Given the description of an element on the screen output the (x, y) to click on. 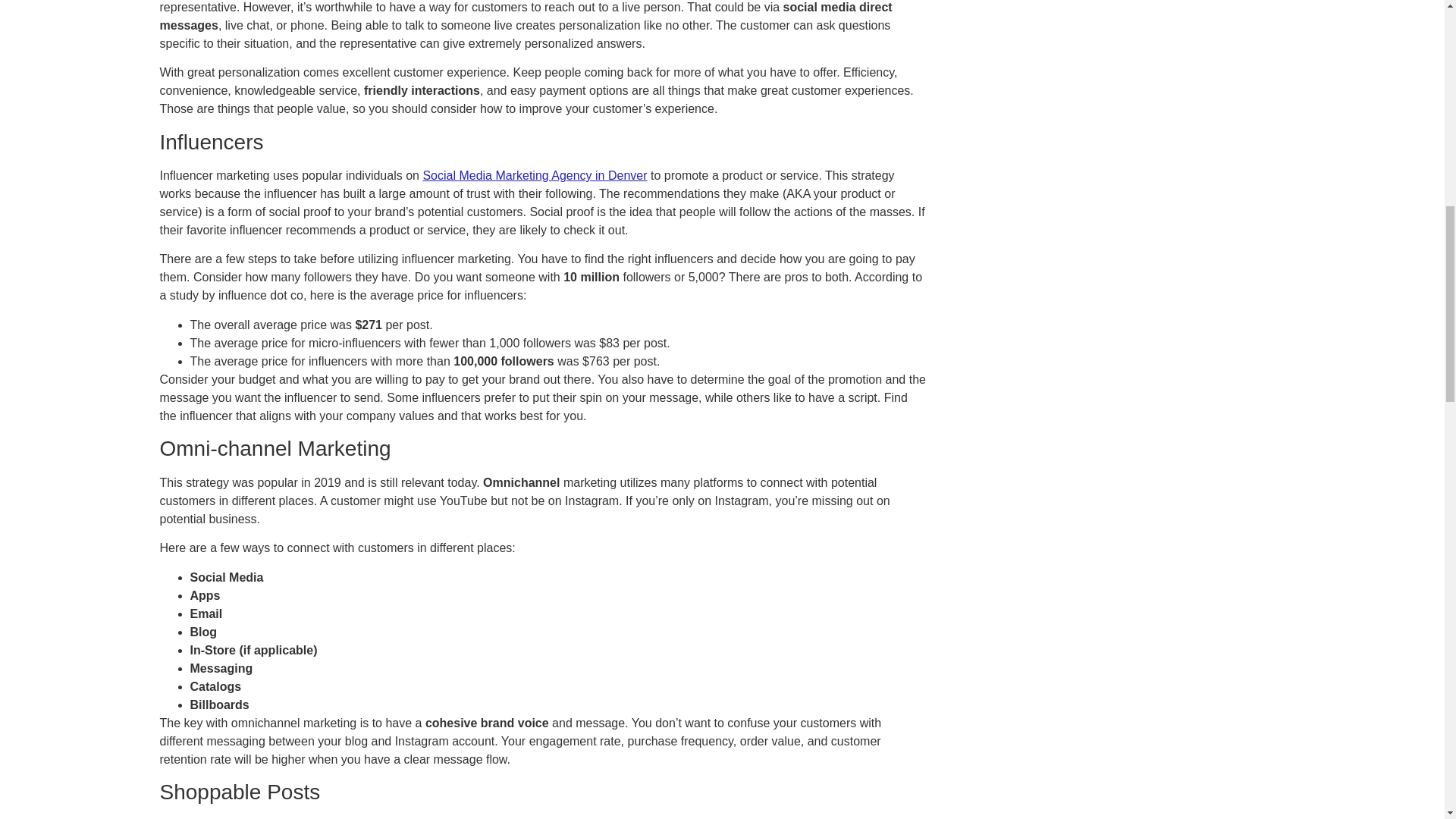
Social Media Marketing Agency in Denver (534, 174)
